Given the description of an element on the screen output the (x, y) to click on. 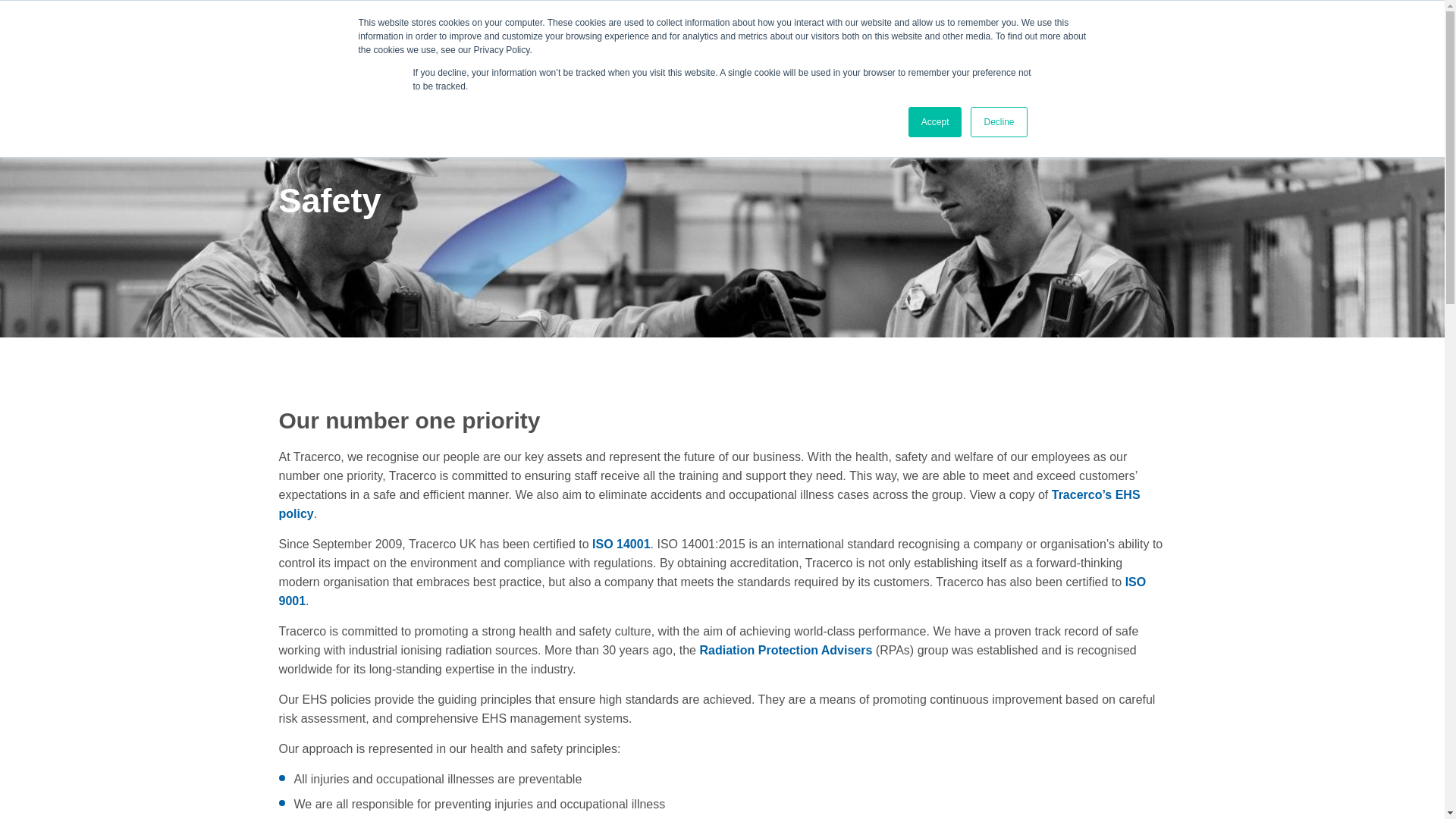
Challenge Us (1257, 37)
Why Tracerco? (327, 37)
What we offer (486, 37)
Decline (998, 122)
Enquire Now (1370, 37)
Connect with us (806, 37)
Downloads (1166, 38)
Accept (935, 122)
Who we serve (644, 37)
Careers (953, 37)
